Given the description of an element on the screen output the (x, y) to click on. 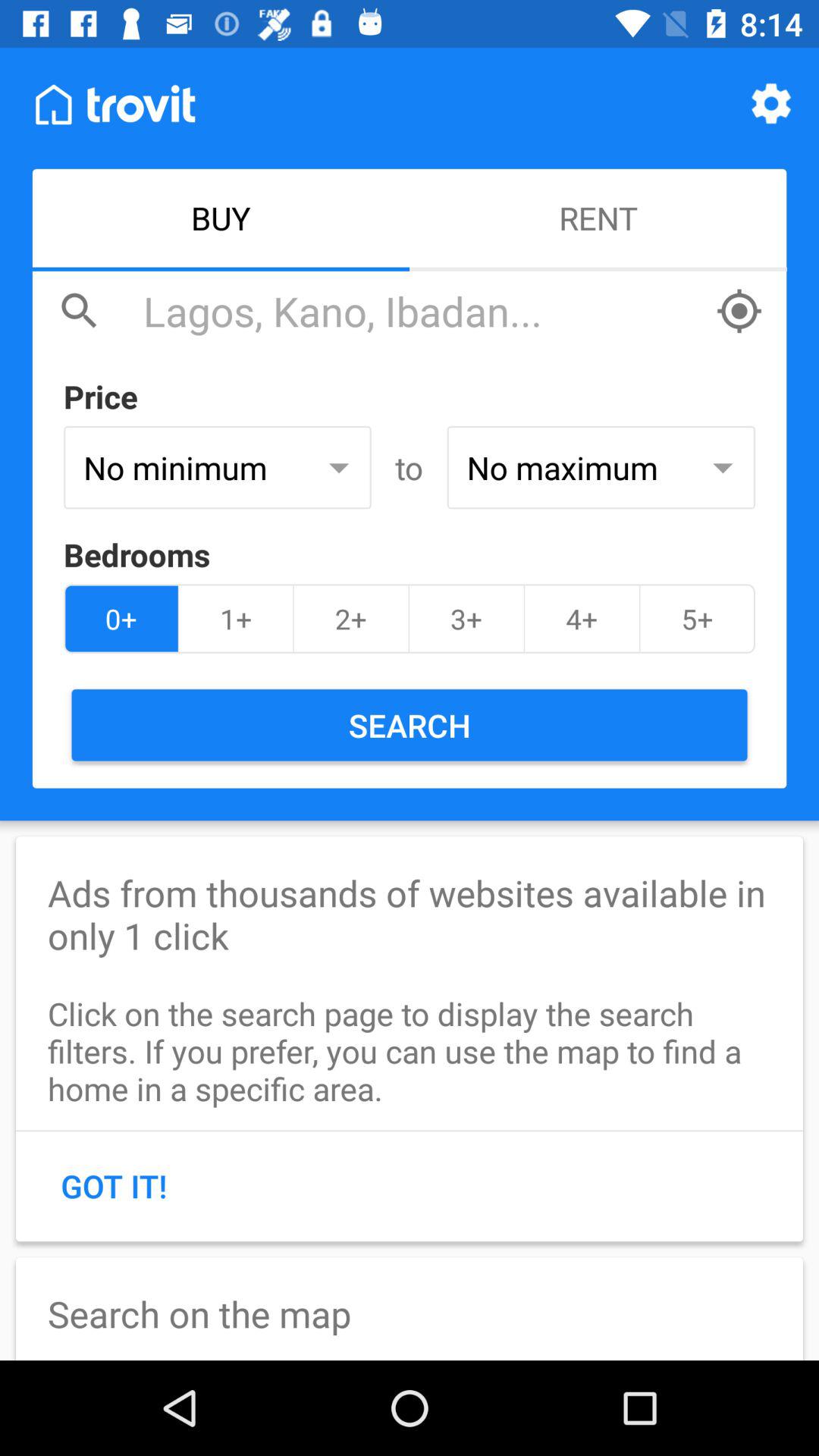
press item above rent (771, 103)
